Given the description of an element on the screen output the (x, y) to click on. 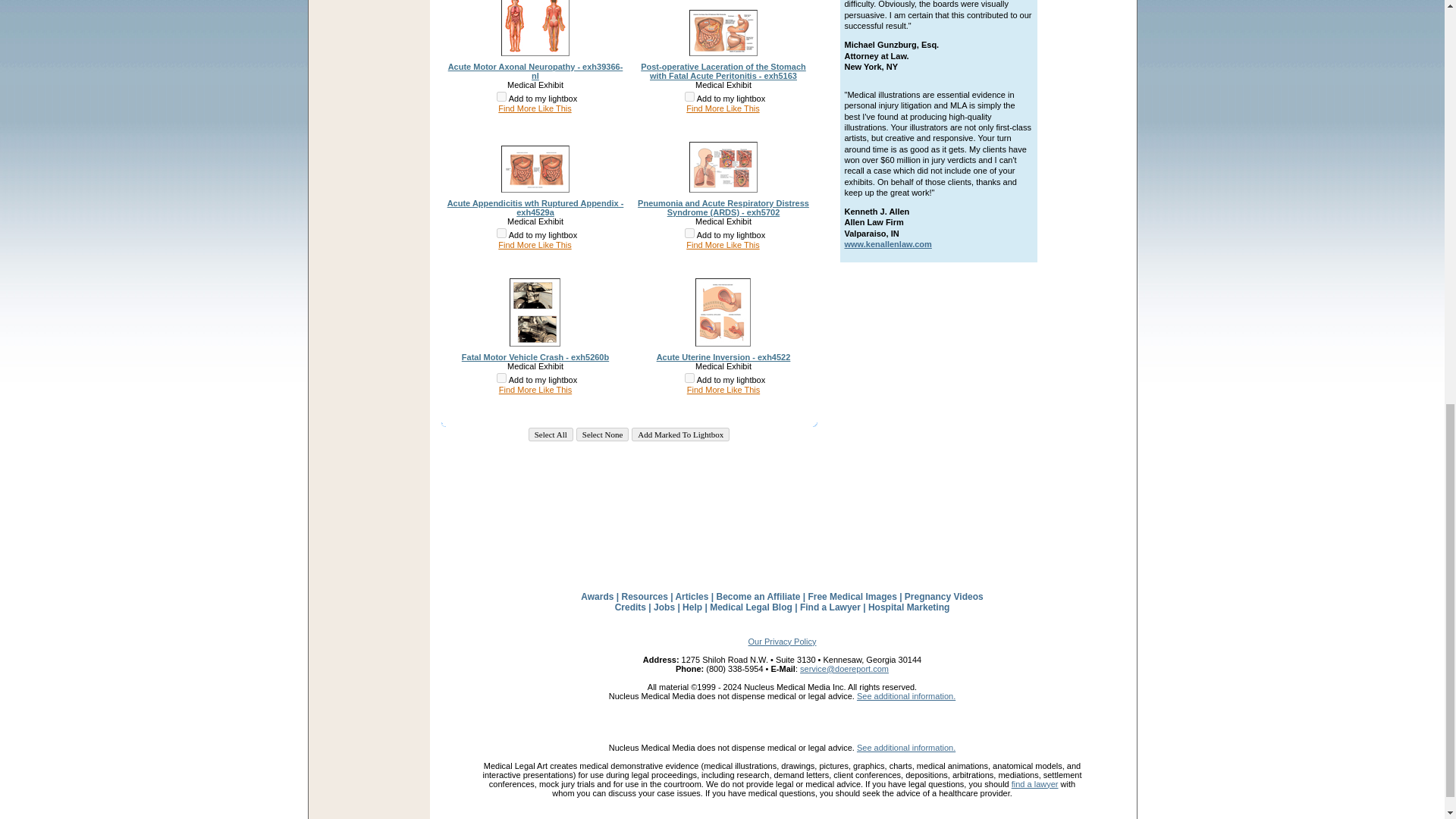
23 (689, 96)
Fatal Motor Vehicle Crash (534, 356)
Select None (602, 434)
Add Marked To Lightbox (680, 434)
1406 (689, 233)
752 (689, 378)
1052 (501, 233)
36875 (501, 96)
90 (501, 378)
Fatal Motor Vehicle Crash (534, 338)
Select All (550, 434)
